Given the description of an element on the screen output the (x, y) to click on. 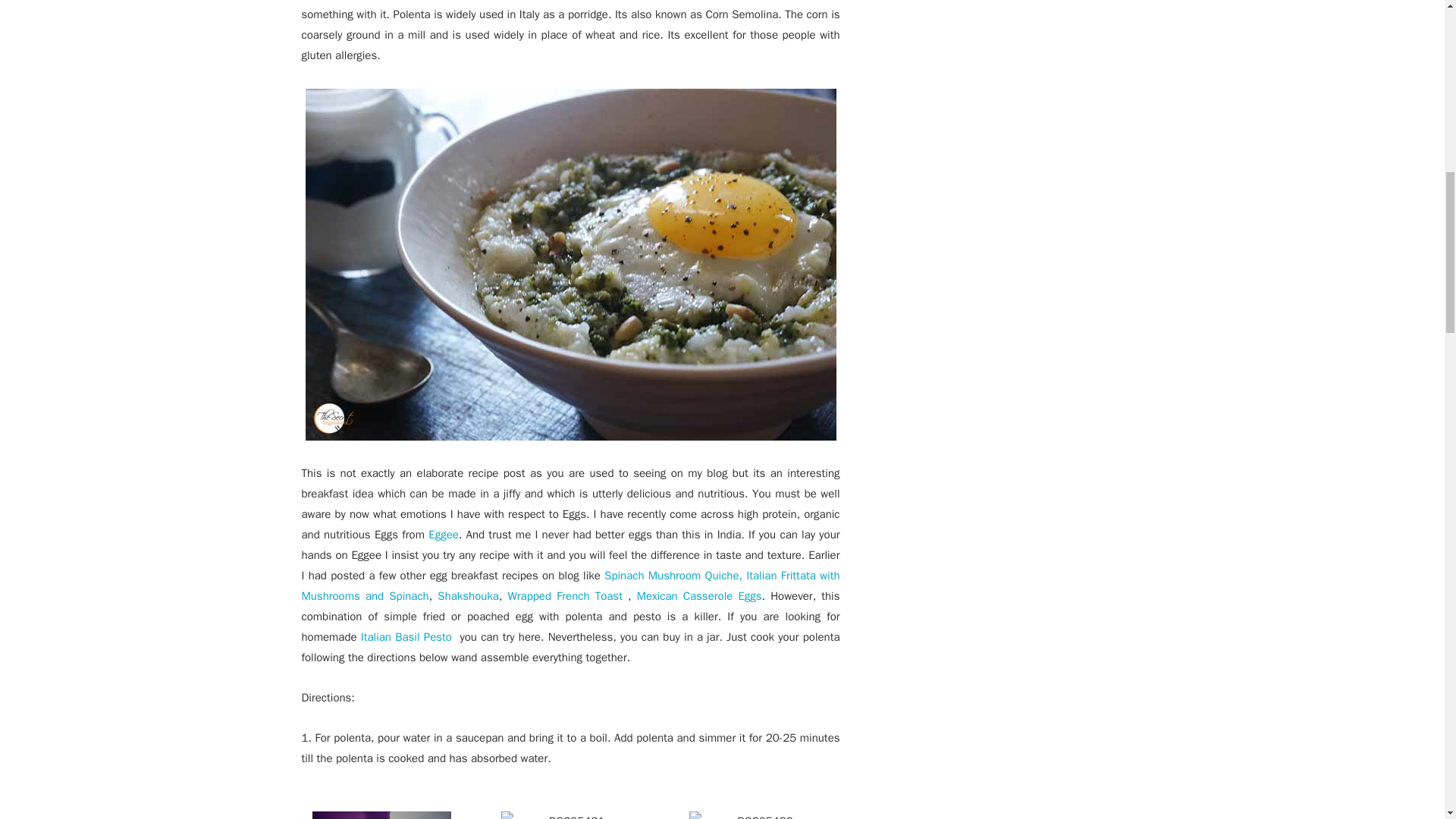
SOS organics (696, 0)
Eggee (443, 534)
Mexican Casserole Eggs (699, 595)
Spinach Mushroom Quiche, (673, 575)
Wrapped French Toast  (568, 595)
Italian Frittata with Mushrooms and Spinach (570, 585)
Italian Basil Pesto (406, 636)
Shakshouka (468, 595)
